Given the description of an element on the screen output the (x, y) to click on. 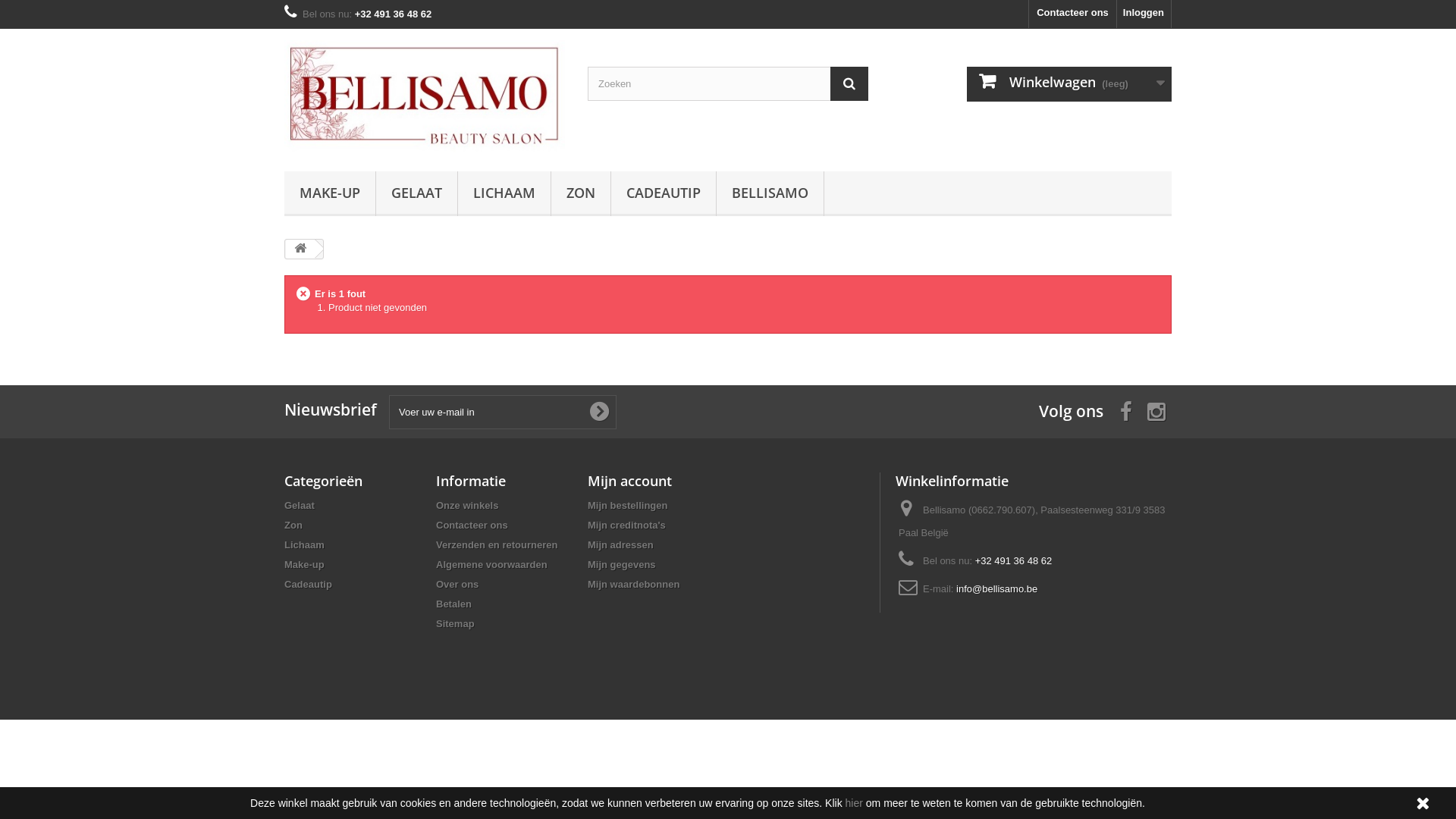
Gelaat Element type: text (299, 505)
Terug naar Home Element type: hover (299, 248)
Winkelwagen (leeg) Element type: text (1068, 83)
Mijn creditnota's Element type: text (626, 524)
Mijn gegevens Element type: text (621, 564)
Sitemap Element type: text (455, 623)
info@bellisamo.be Element type: text (996, 588)
LICHAAM Element type: text (504, 193)
hier Element type: text (853, 803)
CADEAUTIP Element type: text (663, 193)
Over ons Element type: text (457, 583)
Mijn adressen Element type: text (620, 544)
ZON Element type: text (580, 193)
Betalen Element type: text (453, 603)
Mijn account Element type: text (629, 480)
Bellisamo Element type: hover (424, 96)
Mijn waardebonnen Element type: text (633, 583)
GELAAT Element type: text (416, 193)
Lichaam Element type: text (304, 544)
Algemene voorwaarden Element type: text (491, 564)
Contacteer ons Element type: text (472, 524)
MAKE-UP Element type: text (329, 193)
Make-up Element type: text (304, 564)
Inloggen Element type: text (1143, 14)
Cadeautip Element type: text (308, 583)
Verzenden en retourneren Element type: text (496, 544)
Zon Element type: text (293, 524)
Onze winkels Element type: text (467, 505)
Mijn bestellingen Element type: text (627, 505)
Contacteer ons Element type: text (1072, 14)
BELLISAMO Element type: text (769, 193)
